Given the description of an element on the screen output the (x, y) to click on. 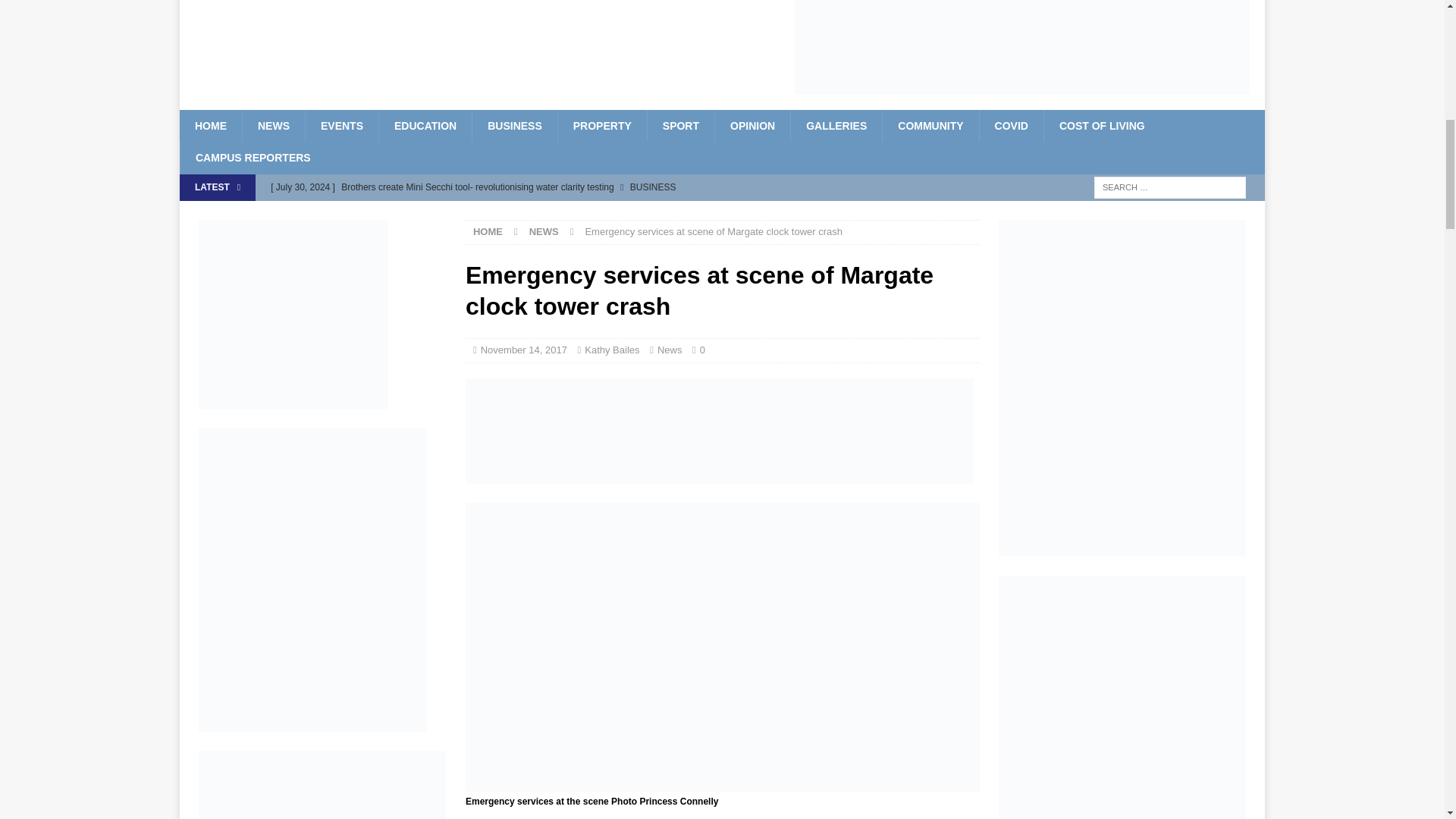
EDUCATION (424, 125)
GALLERIES (836, 125)
OPINION (752, 125)
BUSINESS (514, 125)
EVENTS (341, 125)
COMMUNITY (930, 125)
CAMPUS REPORTERS (252, 157)
NEWS (272, 125)
COVID (1010, 125)
COST OF LIVING (1101, 125)
SPORT (680, 125)
HOME (210, 125)
PROPERTY (601, 125)
